Given the description of an element on the screen output the (x, y) to click on. 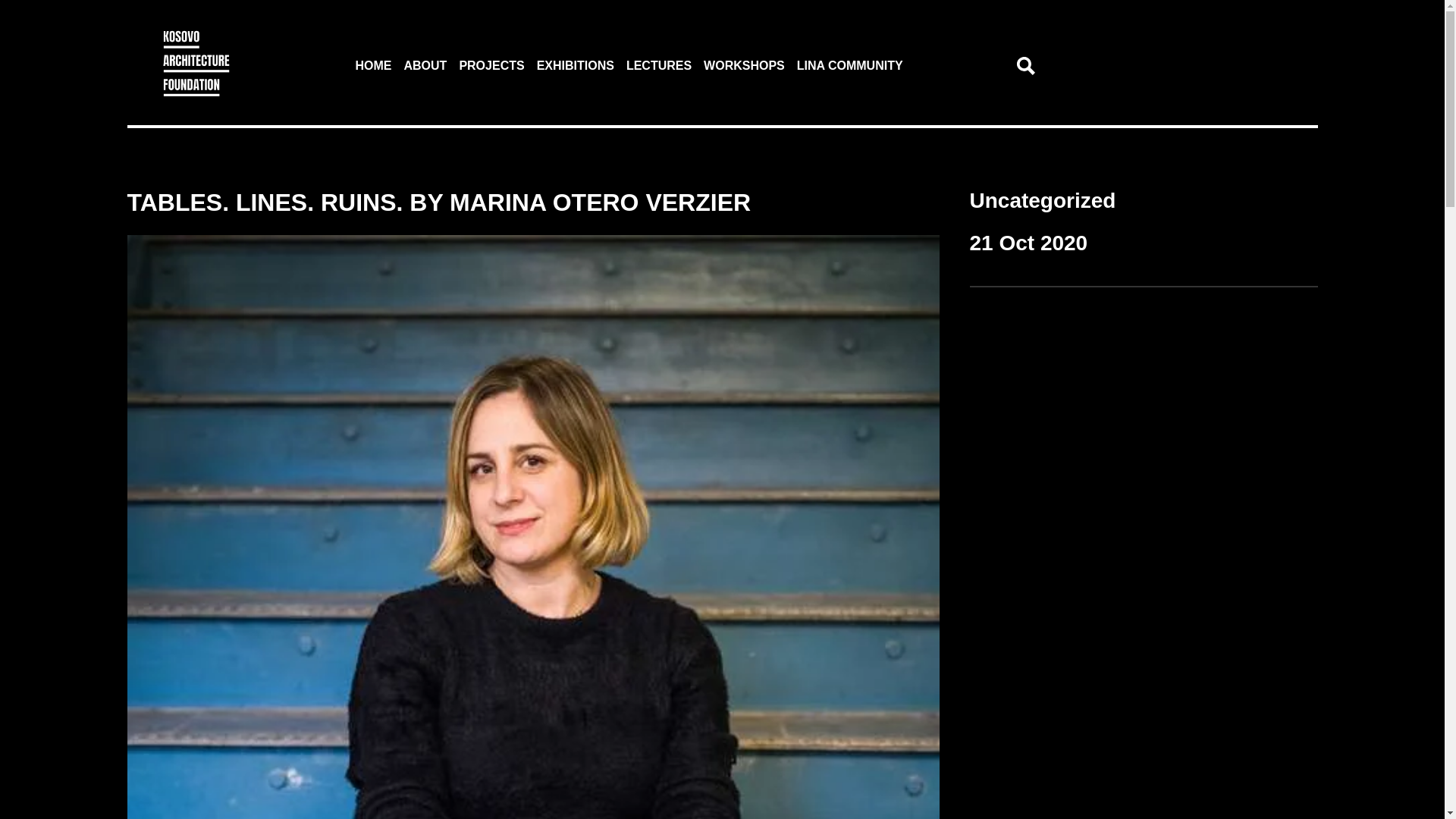
PROJECTS (491, 65)
WORKSHOPS (743, 65)
ABOUT (424, 65)
LINA COMMUNITY (849, 65)
HOME (373, 65)
LECTURES (658, 65)
EXHIBITIONS (575, 65)
